Given the description of an element on the screen output the (x, y) to click on. 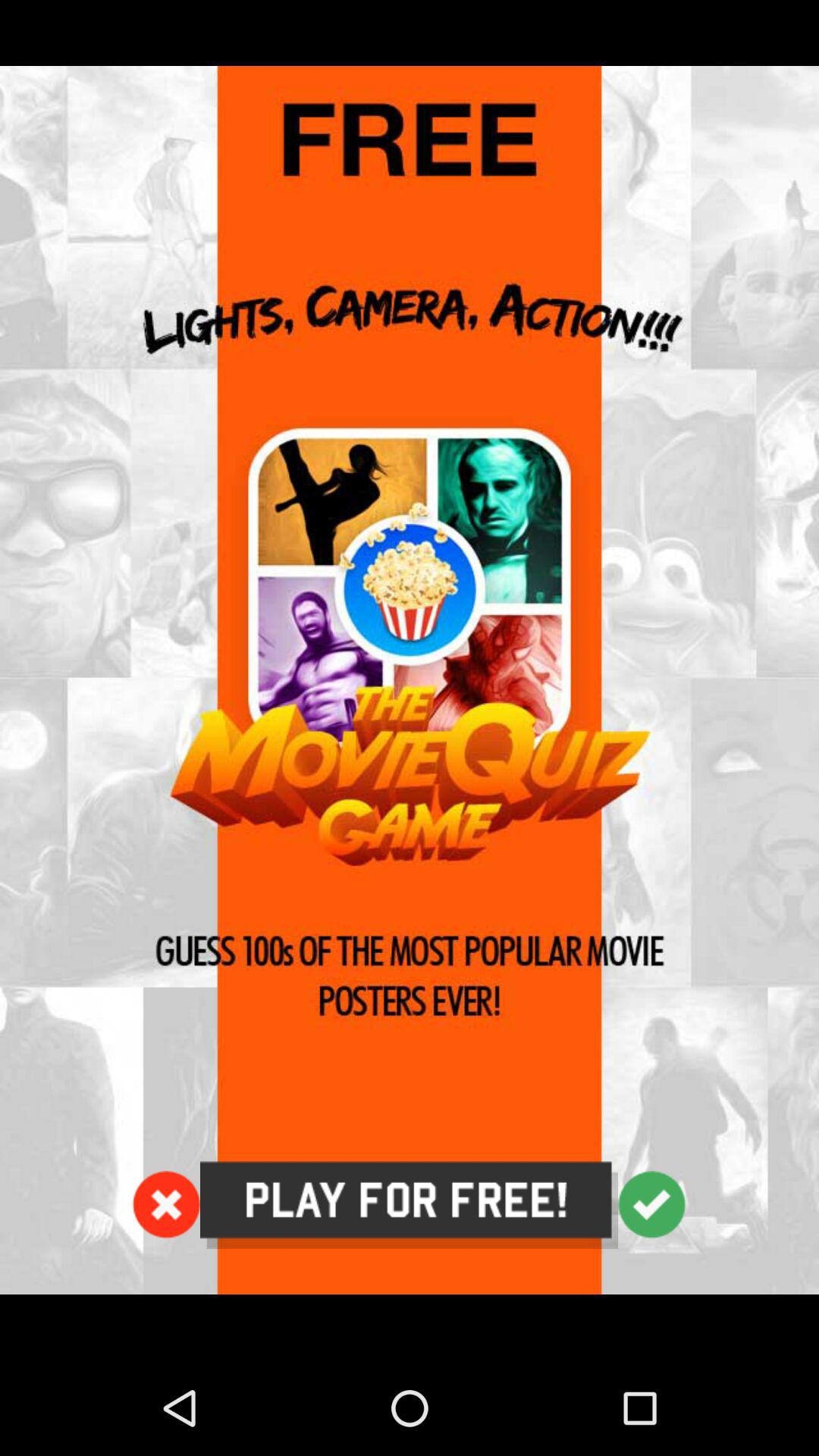
choose the icon at the bottom (409, 1204)
